Given the description of an element on the screen output the (x, y) to click on. 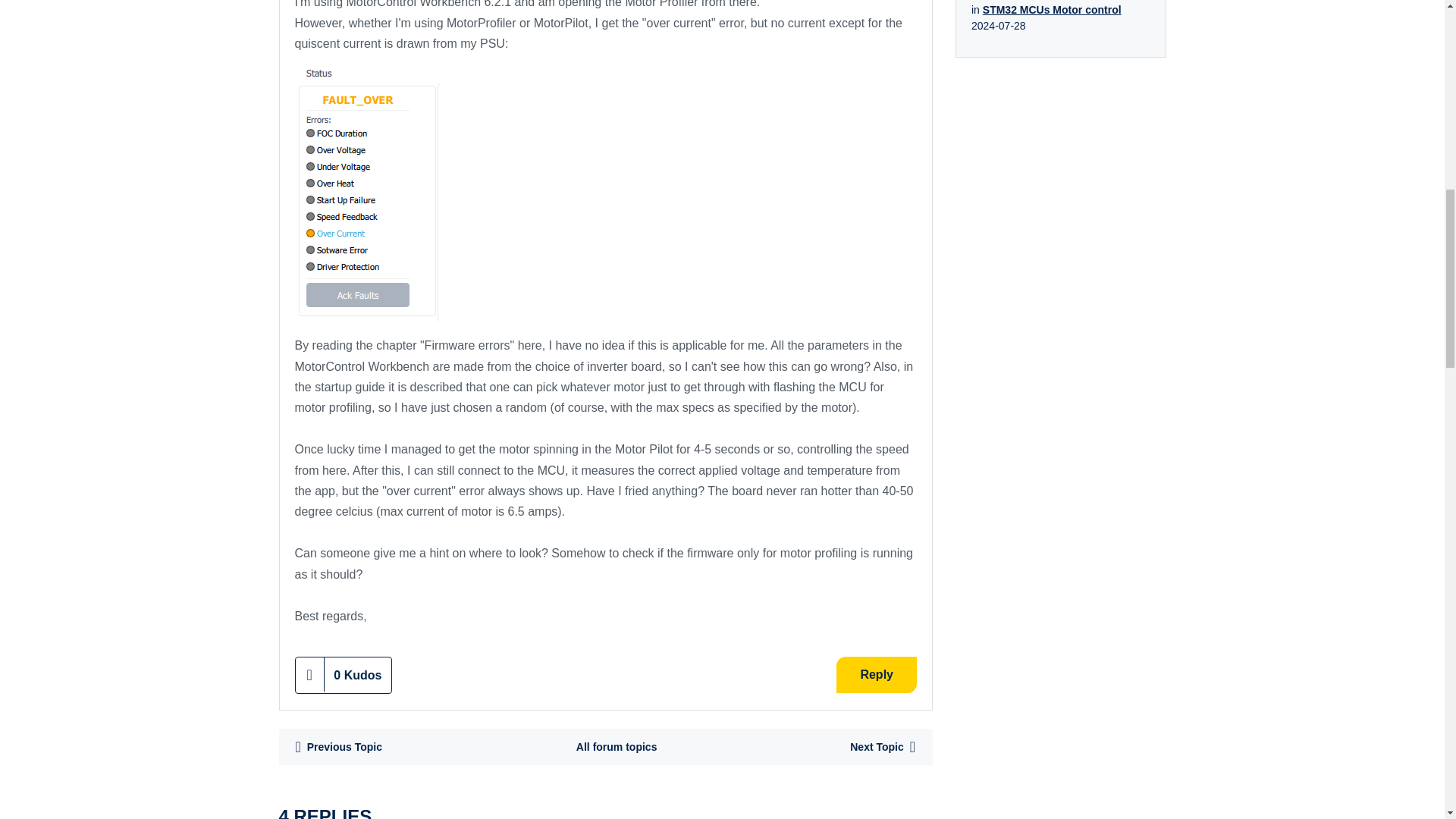
The total number of kudos this post has received. (357, 674)
